Given the description of an element on the screen output the (x, y) to click on. 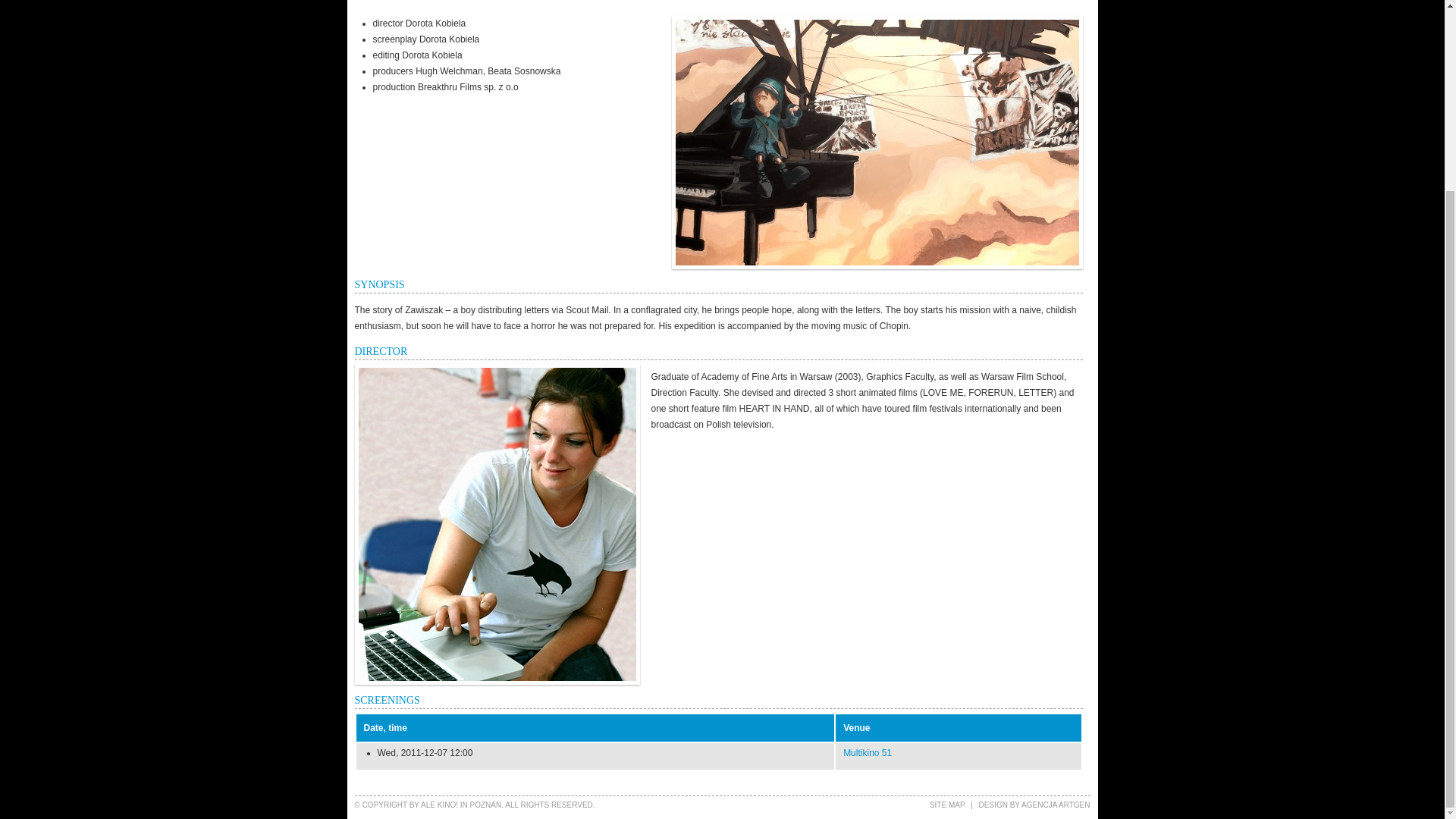
sort by Venue (856, 727)
Multikino 51 (867, 752)
SITE MAP (947, 804)
Venue (856, 727)
AGENCJA ARTGEN (1055, 804)
